Given the description of an element on the screen output the (x, y) to click on. 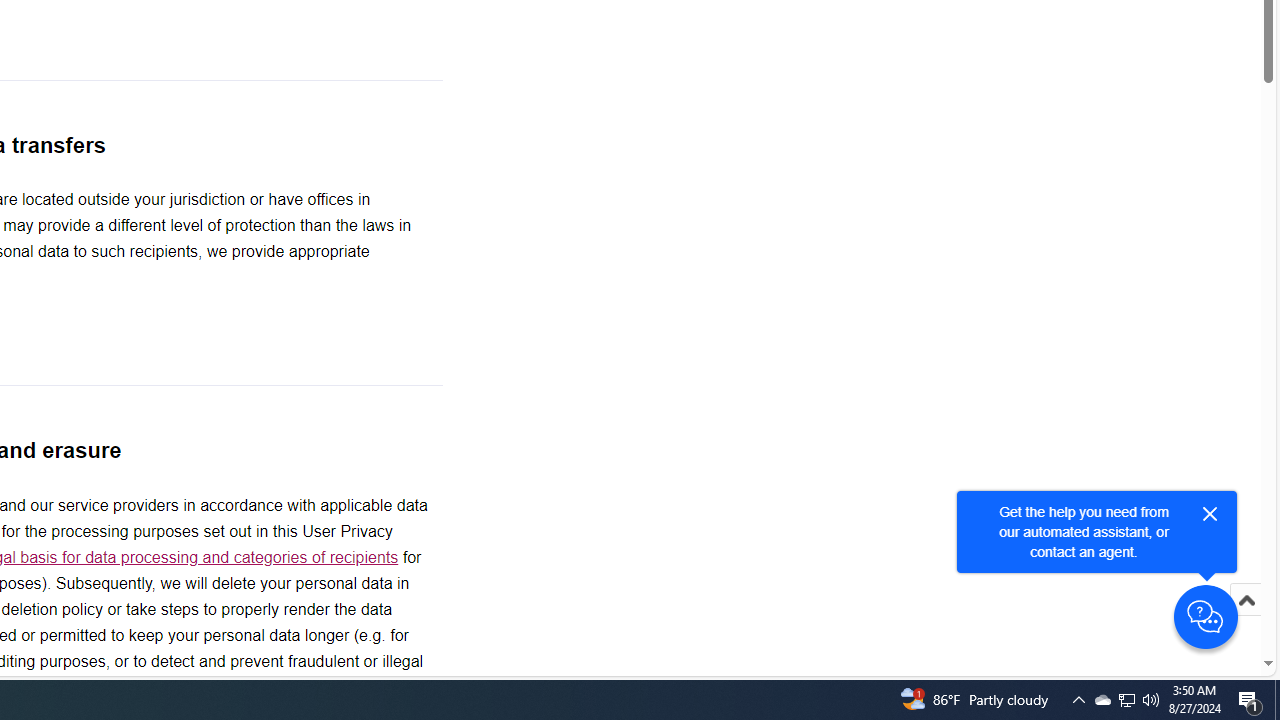
Scroll to top (1246, 620)
Scroll to top (1246, 599)
